Given the description of an element on the screen output the (x, y) to click on. 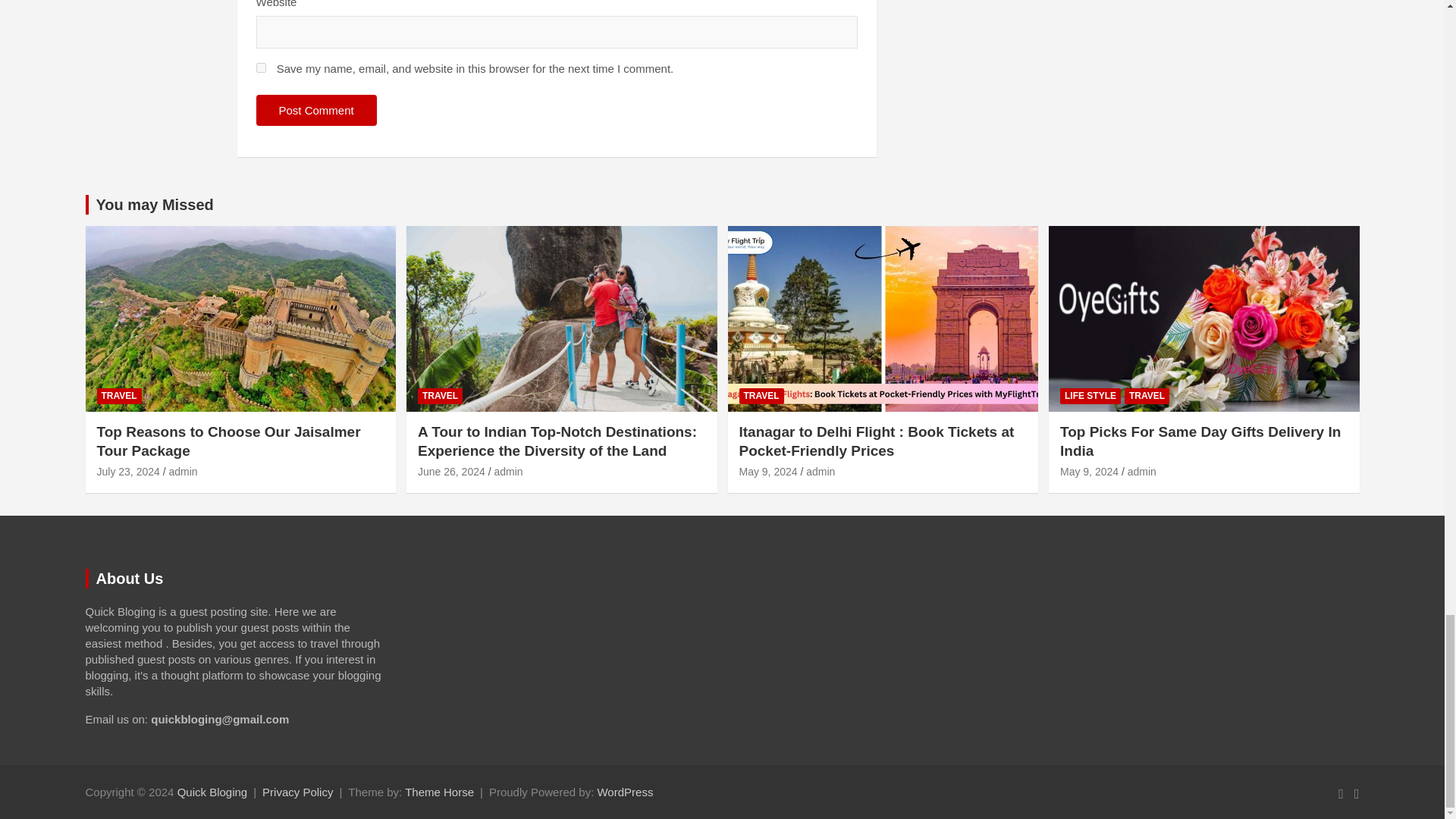
Post Comment (316, 110)
Theme Horse (439, 791)
Top Reasons to Choose Our Jaisalmer Tour Package (128, 471)
yes (261, 67)
Post Comment (316, 110)
Quick Bloging (212, 791)
Top Picks For Same Day Gifts Delivery In India (1088, 471)
WordPress (624, 791)
